Given the description of an element on the screen output the (x, y) to click on. 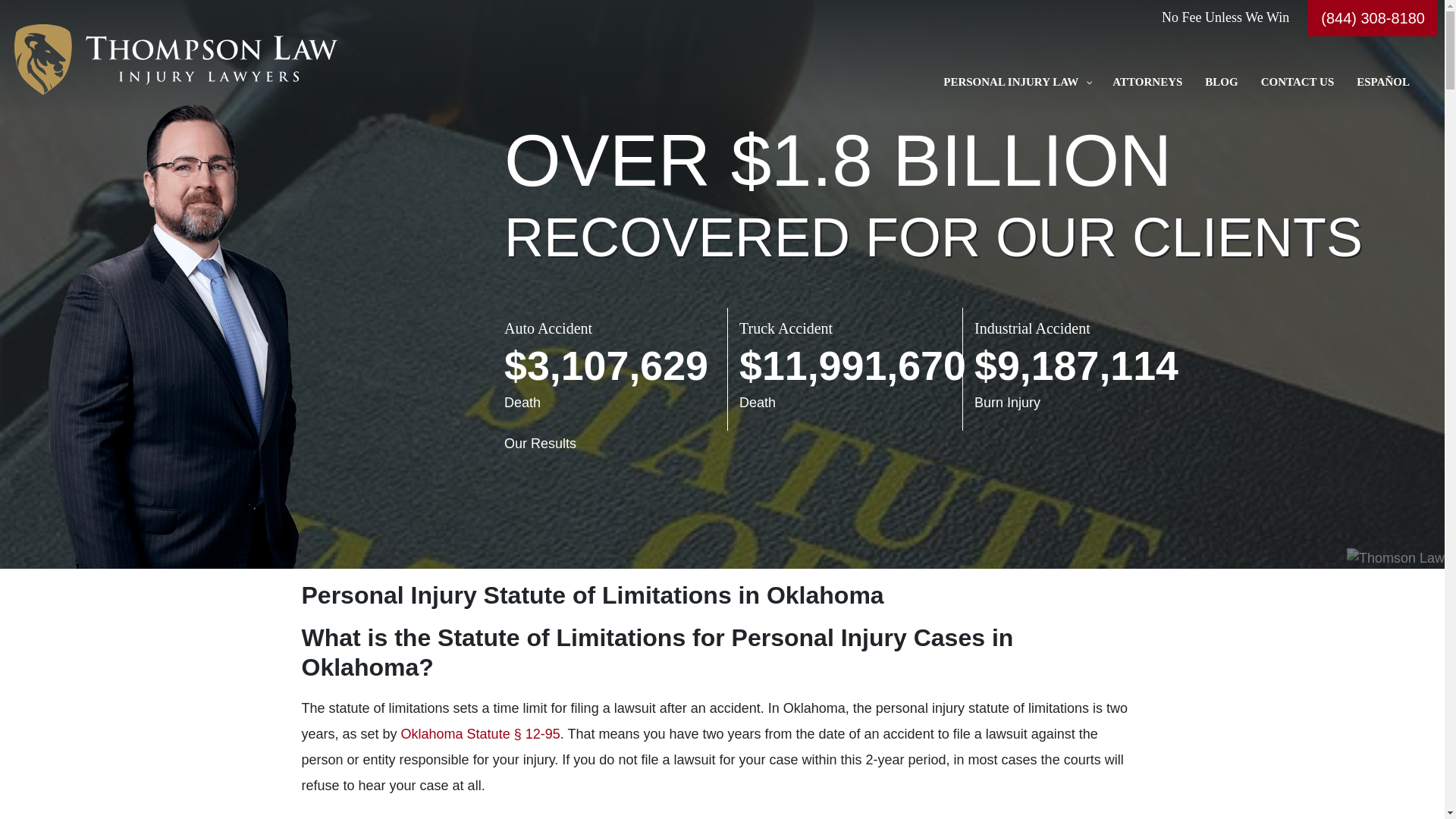
Our Results (539, 443)
PERSONAL INJURY LAW (1015, 82)
ATTORNEYS (1146, 82)
CONTACT US (1297, 82)
BLOG (1221, 82)
